Given the description of an element on the screen output the (x, y) to click on. 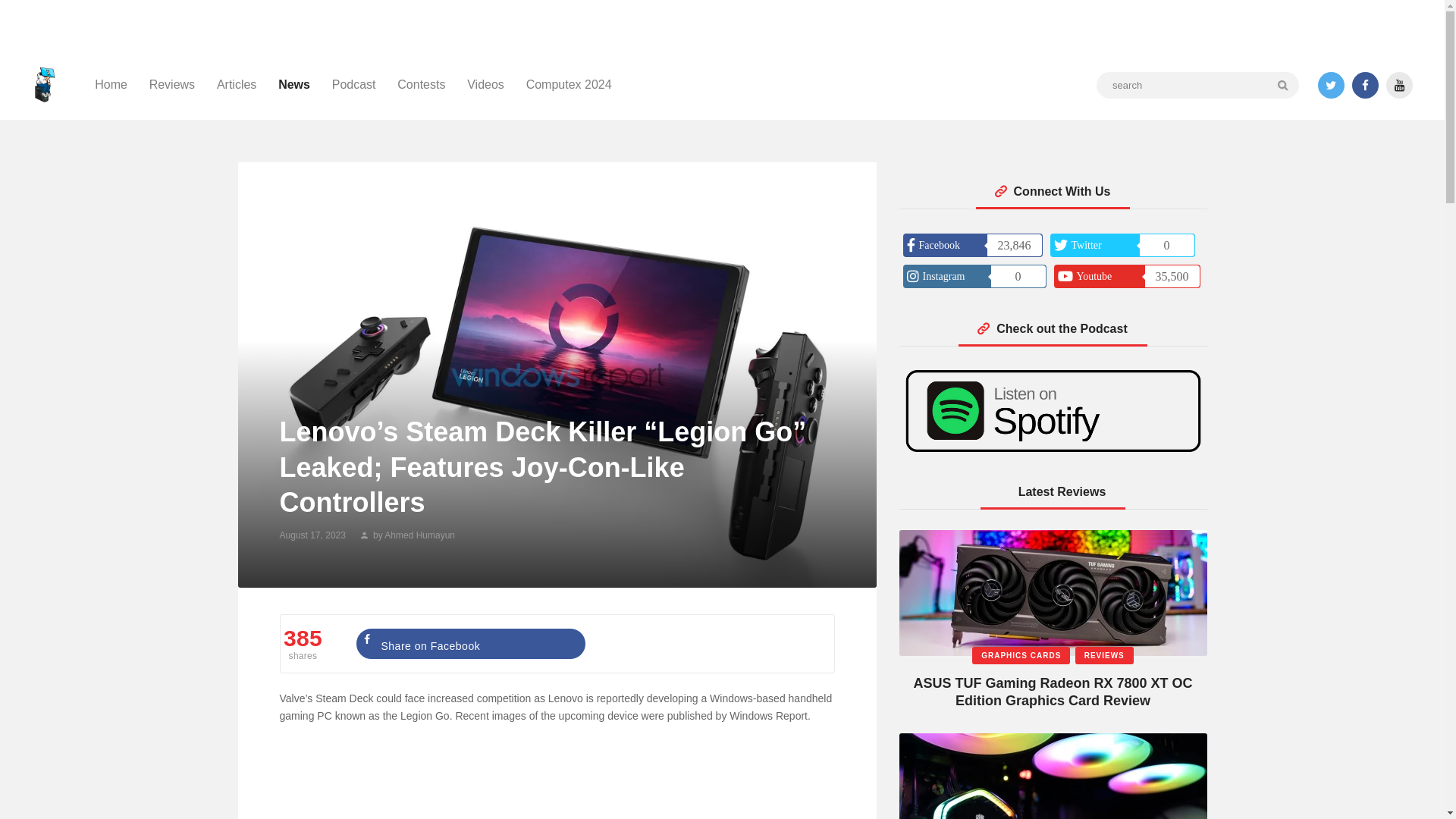
News (294, 85)
Home (111, 85)
Reviews (171, 85)
Share on X (703, 643)
Share on Facebook (470, 643)
Articles (236, 85)
